Given the description of an element on the screen output the (x, y) to click on. 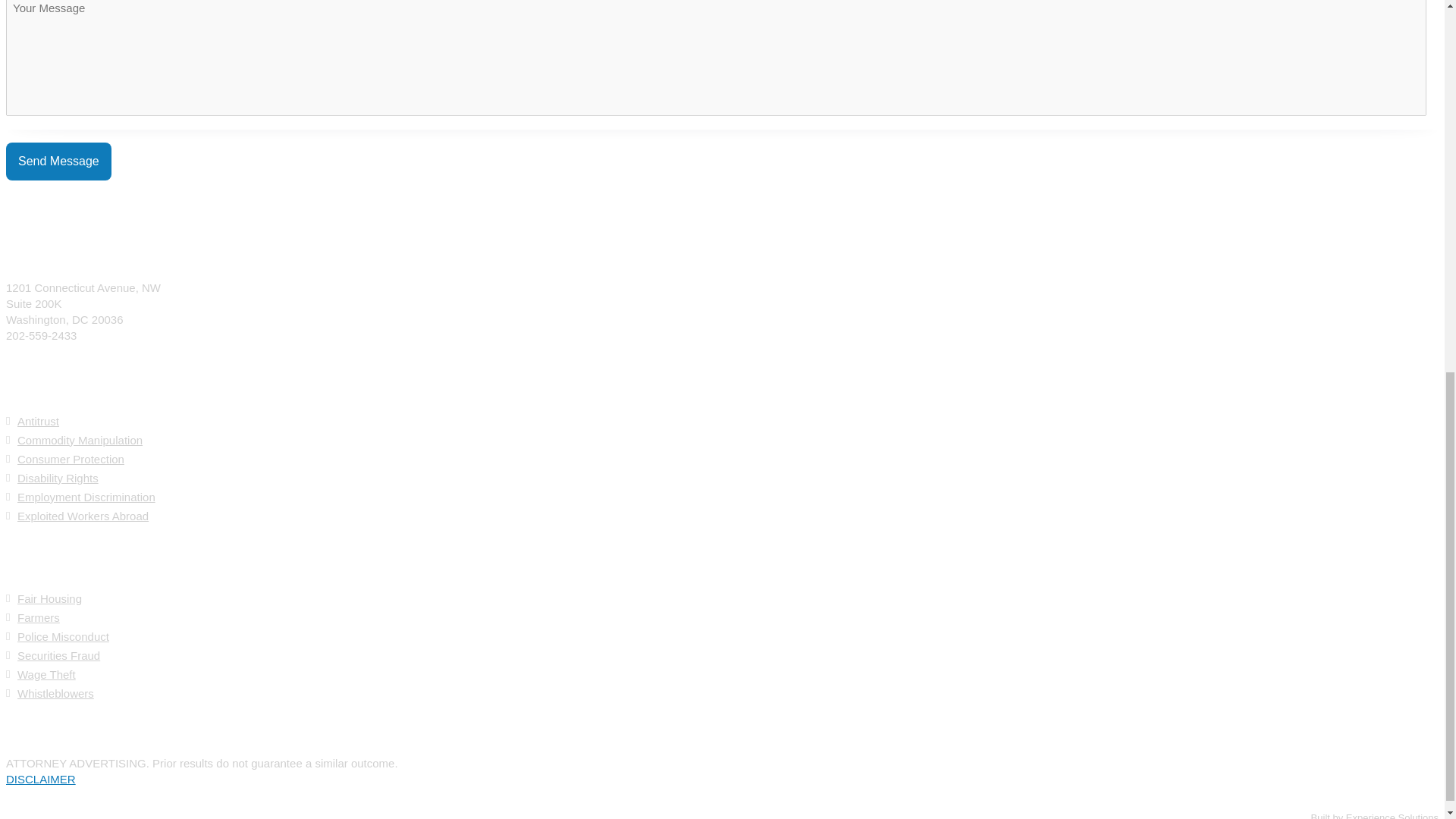
Disability Rights (58, 477)
Antitrust (38, 420)
Send Message (58, 161)
Commodity Manipulation (79, 440)
Send Message (58, 161)
Consumer Protection (70, 459)
